Given the description of an element on the screen output the (x, y) to click on. 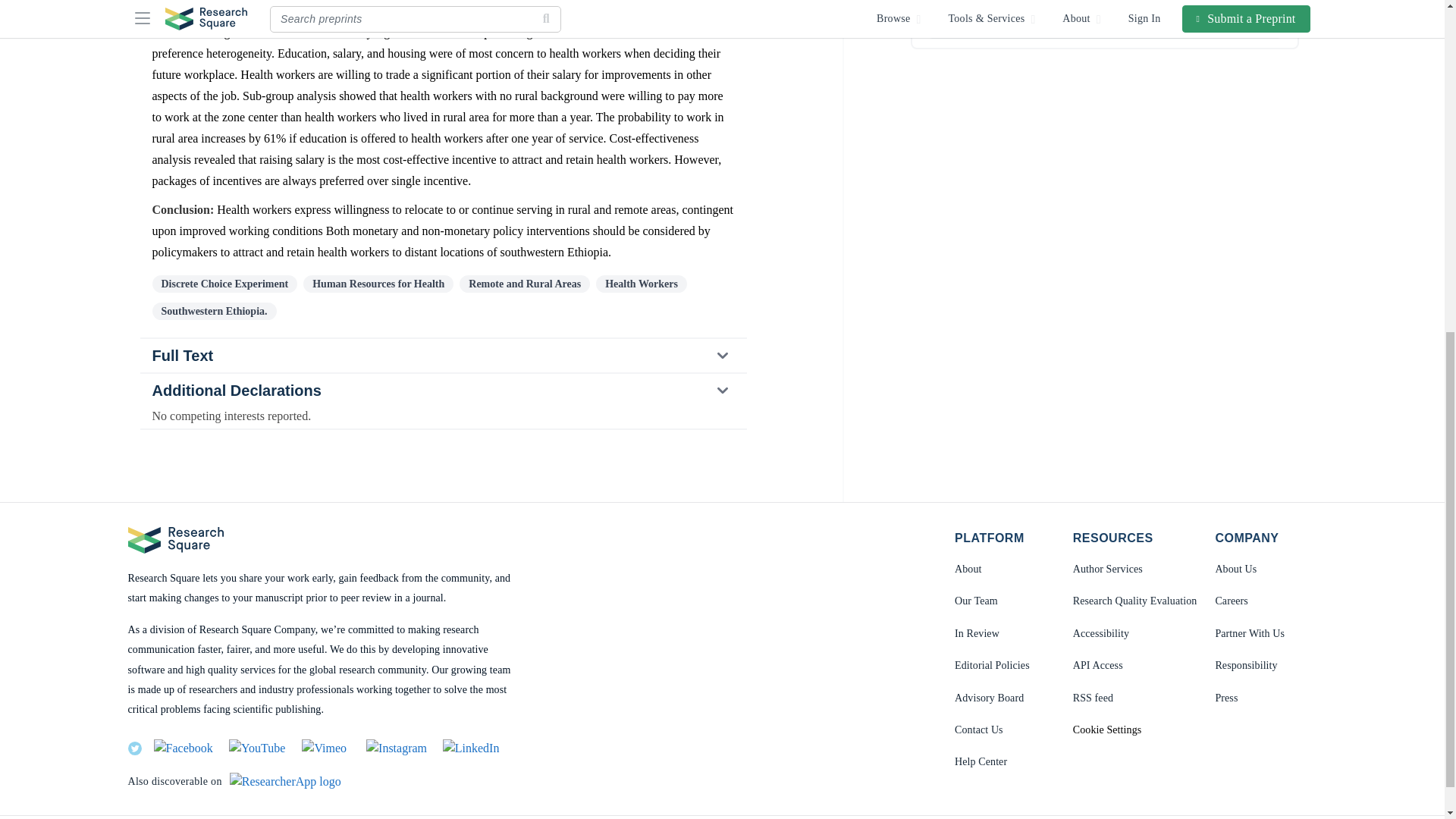
Full Text (442, 355)
Additional Declarations (442, 390)
